Given the description of an element on the screen output the (x, y) to click on. 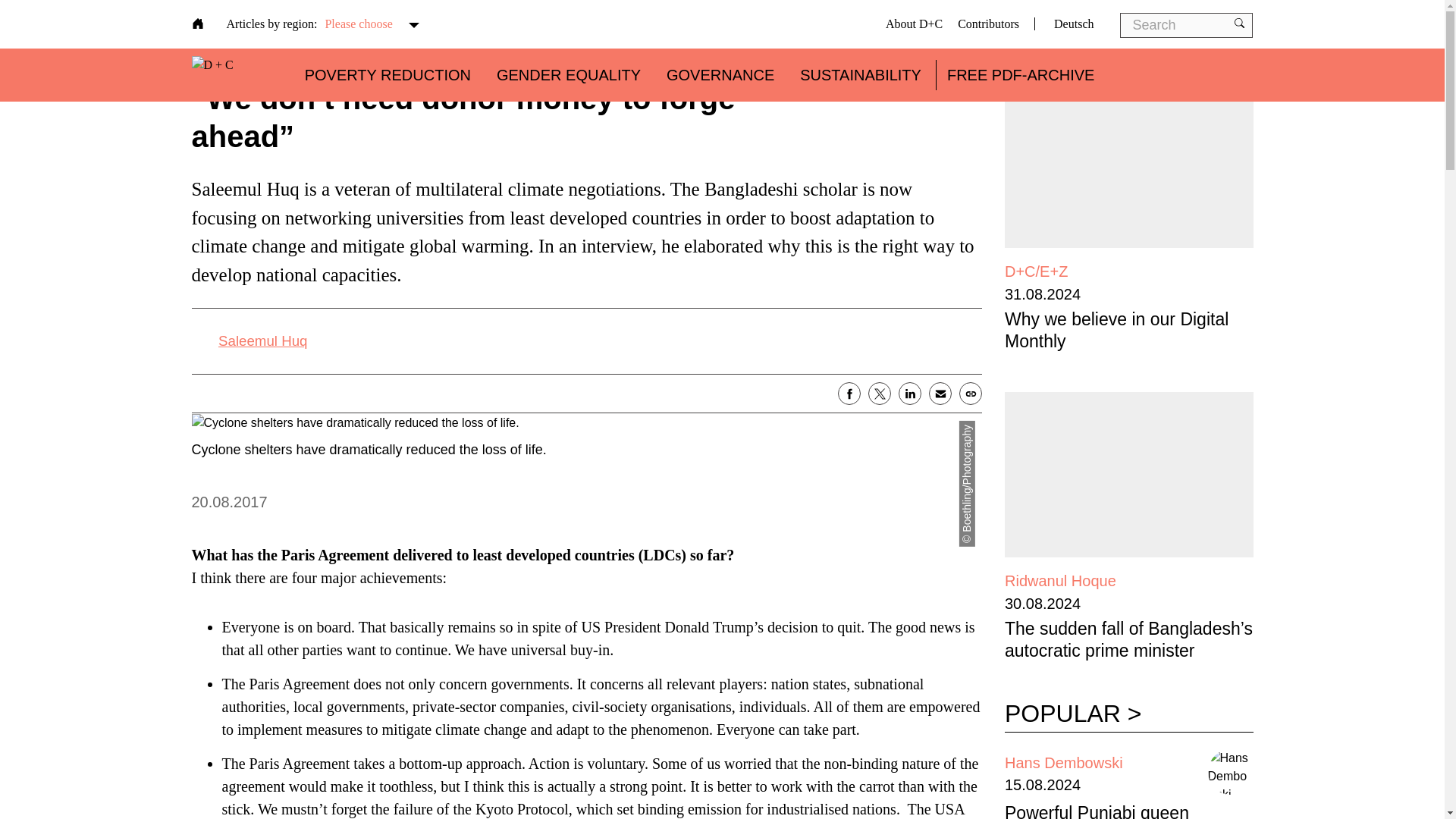
FREE PDF-ARCHIVE (1020, 74)
twitter (879, 393)
SUSTAINABILITY (860, 74)
Contributors (988, 23)
POVERTY REDUCTION (387, 74)
Saleemul (262, 341)
mail (940, 393)
Search (75, 20)
